Given the description of an element on the screen output the (x, y) to click on. 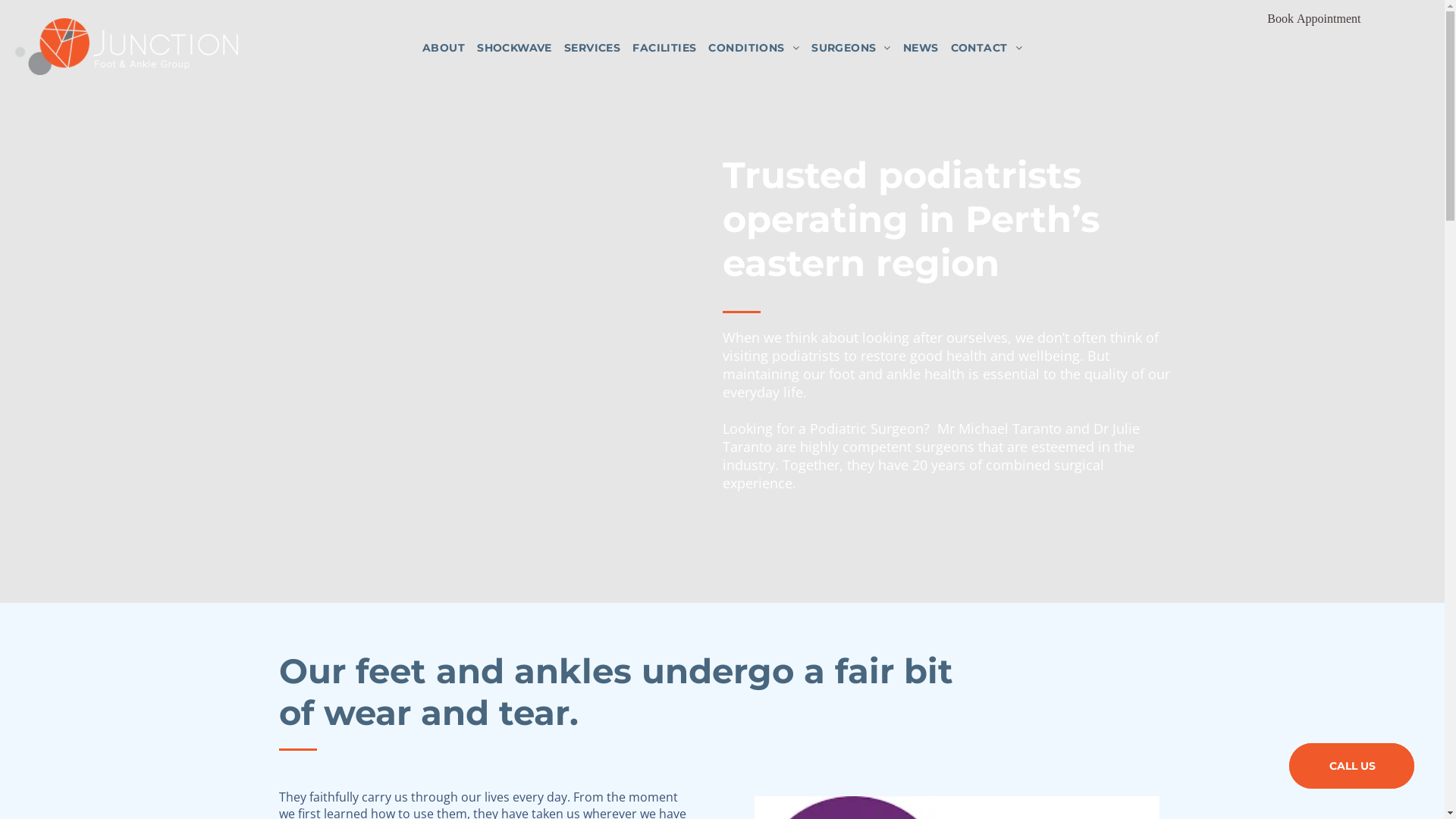
CONTACT Element type: text (986, 47)
NEWS Element type: text (920, 47)
foot Element type: text (840, 373)
SHOCKWAVE Element type: text (514, 47)
FACILITIES Element type: text (664, 47)
CALL US Element type: text (1351, 765)
ABOUT Element type: text (443, 47)
SERVICES Element type: text (592, 47)
CONDITIONS Element type: text (753, 47)
SURGEONS Element type: text (851, 47)
Book Appointment Element type: text (1313, 18)
